Given the description of an element on the screen output the (x, y) to click on. 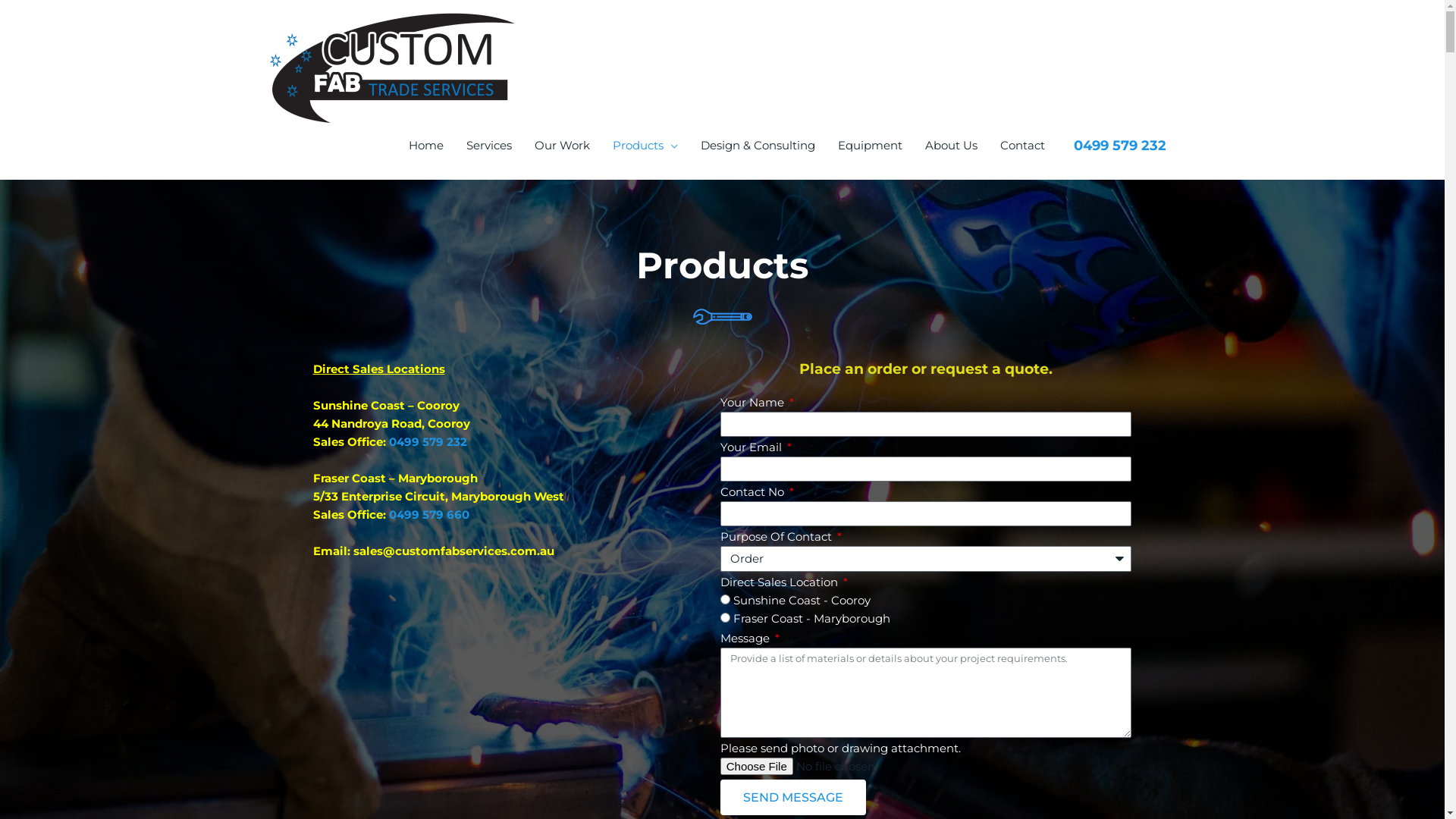
Services Element type: text (489, 145)
0499 579 660 Element type: text (428, 514)
About Us Element type: text (950, 145)
Design & Consulting Element type: text (757, 145)
spanner Element type: hover (721, 317)
Contact Element type: text (1022, 145)
0499 579 232 Element type: text (1119, 144)
Products Element type: text (645, 145)
0499 579 232 Element type: text (427, 441)
Home Element type: text (426, 145)
Equipment Element type: text (869, 145)
Our Work Element type: text (562, 145)
SEND MESSAGE Element type: text (793, 797)
